Given the description of an element on the screen output the (x, y) to click on. 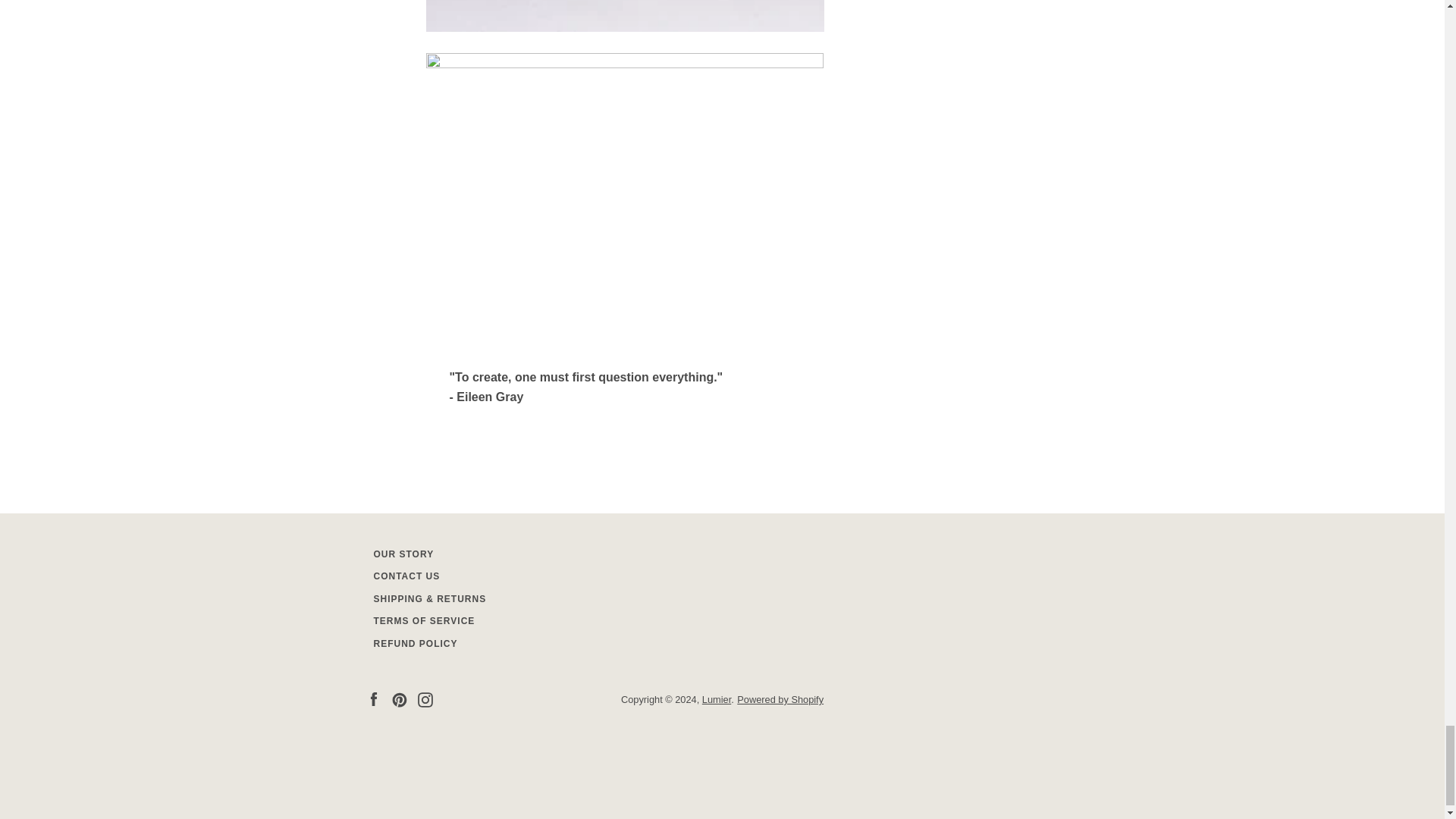
CONTACT US (405, 575)
Powered by Shopify (780, 699)
OUR STORY (402, 553)
Lumier on Facebook (372, 698)
Instagram (424, 698)
Pinterest (399, 698)
Facebook (372, 698)
TERMS OF SERVICE (423, 620)
Lumier on Pinterest (399, 698)
Lumier (715, 699)
